Given the description of an element on the screen output the (x, y) to click on. 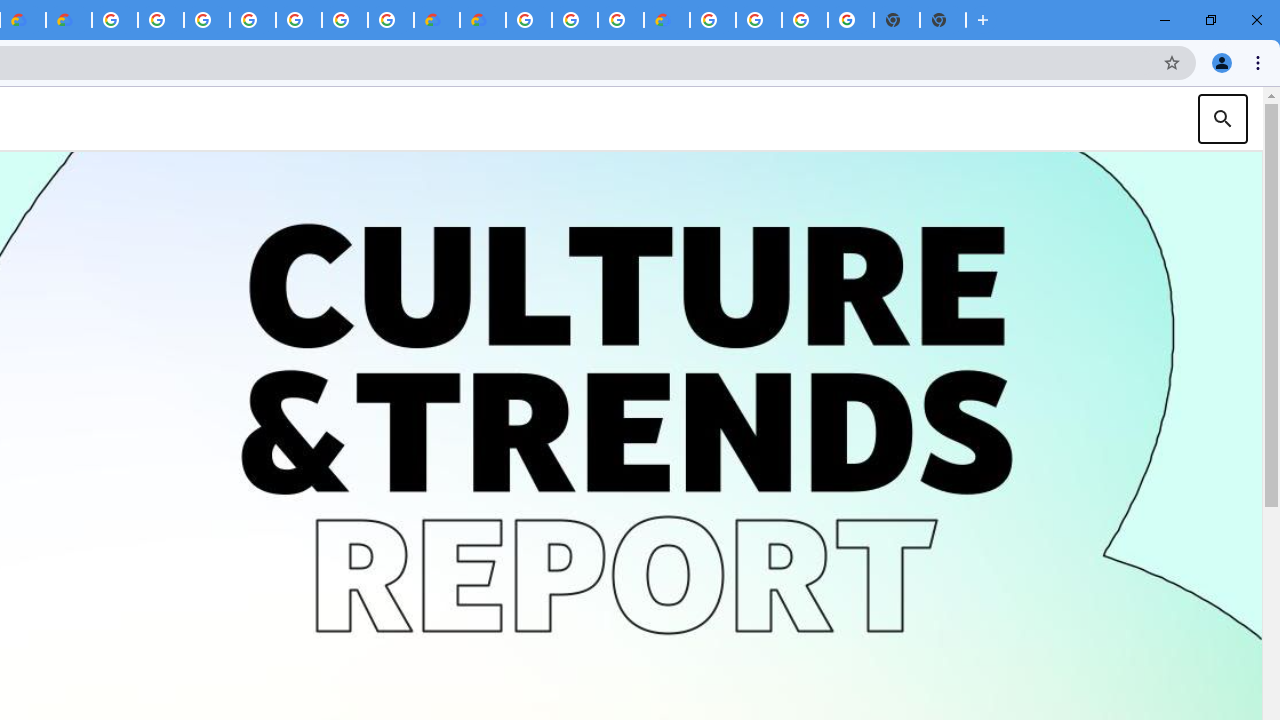
Google Cloud Platform (345, 20)
Browse Chrome as a guest - Computer - Google Chrome Help (620, 20)
Browse Chrome as a guest - Computer - Google Chrome Help (574, 20)
Google Cloud Platform (712, 20)
Google Cloud Platform (528, 20)
New Tab (943, 20)
Customer Care | Google Cloud (436, 20)
